Given the description of an element on the screen output the (x, y) to click on. 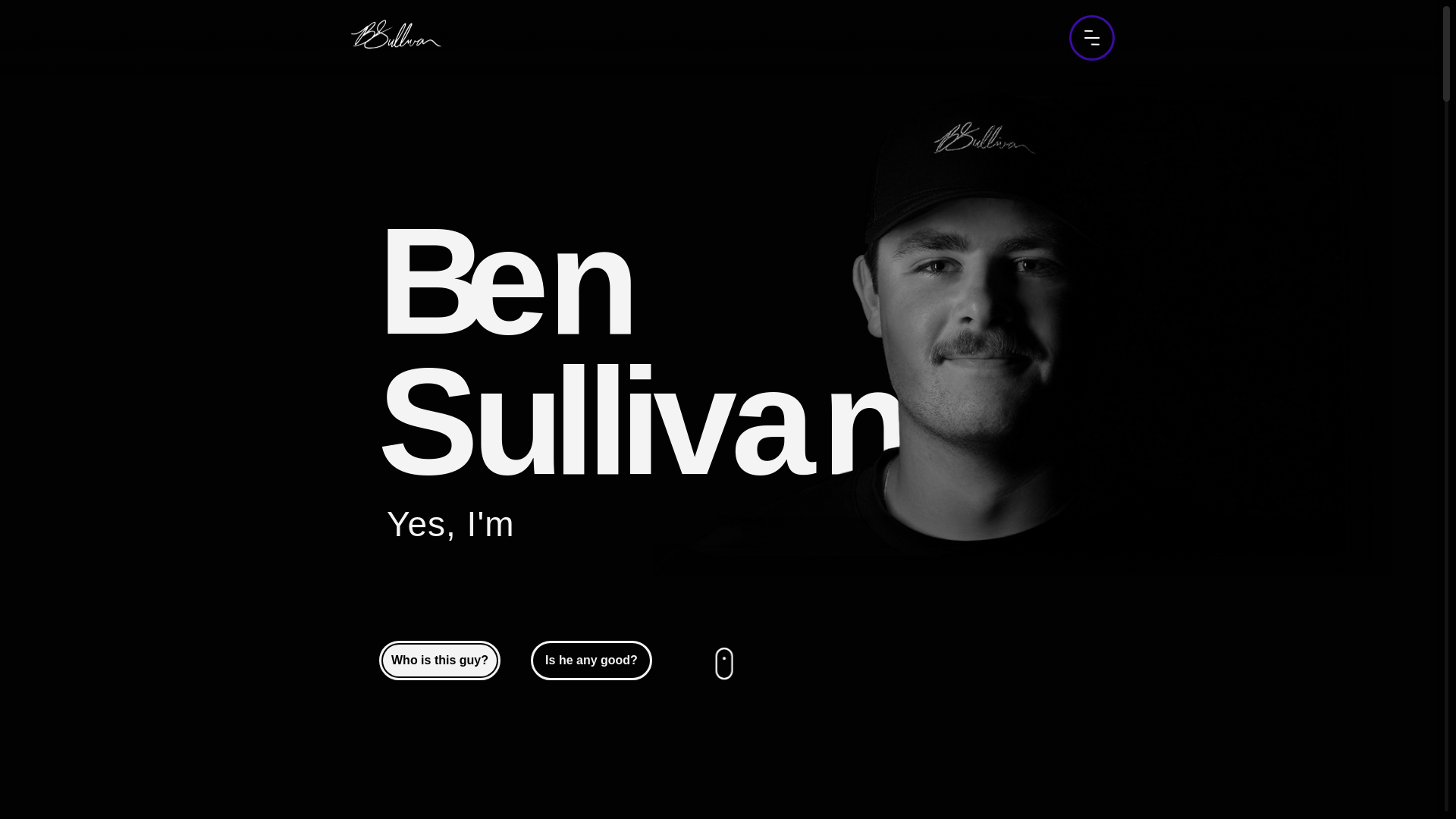
Is he any good? Element type: text (591, 660)
Who is this guy? Element type: text (439, 660)
